Given the description of an element on the screen output the (x, y) to click on. 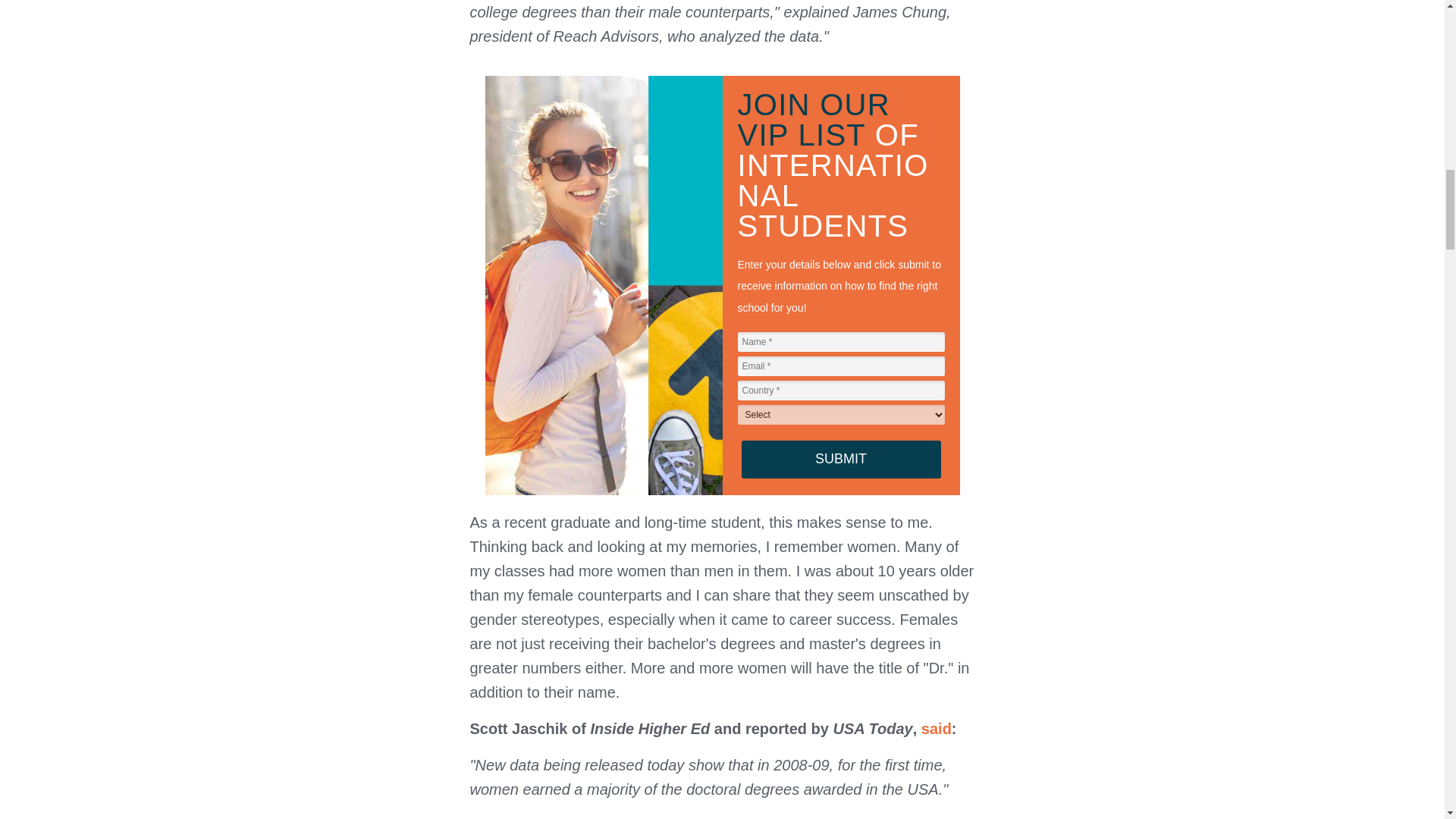
said (936, 728)
SUBMIT (840, 459)
